Given the description of an element on the screen output the (x, y) to click on. 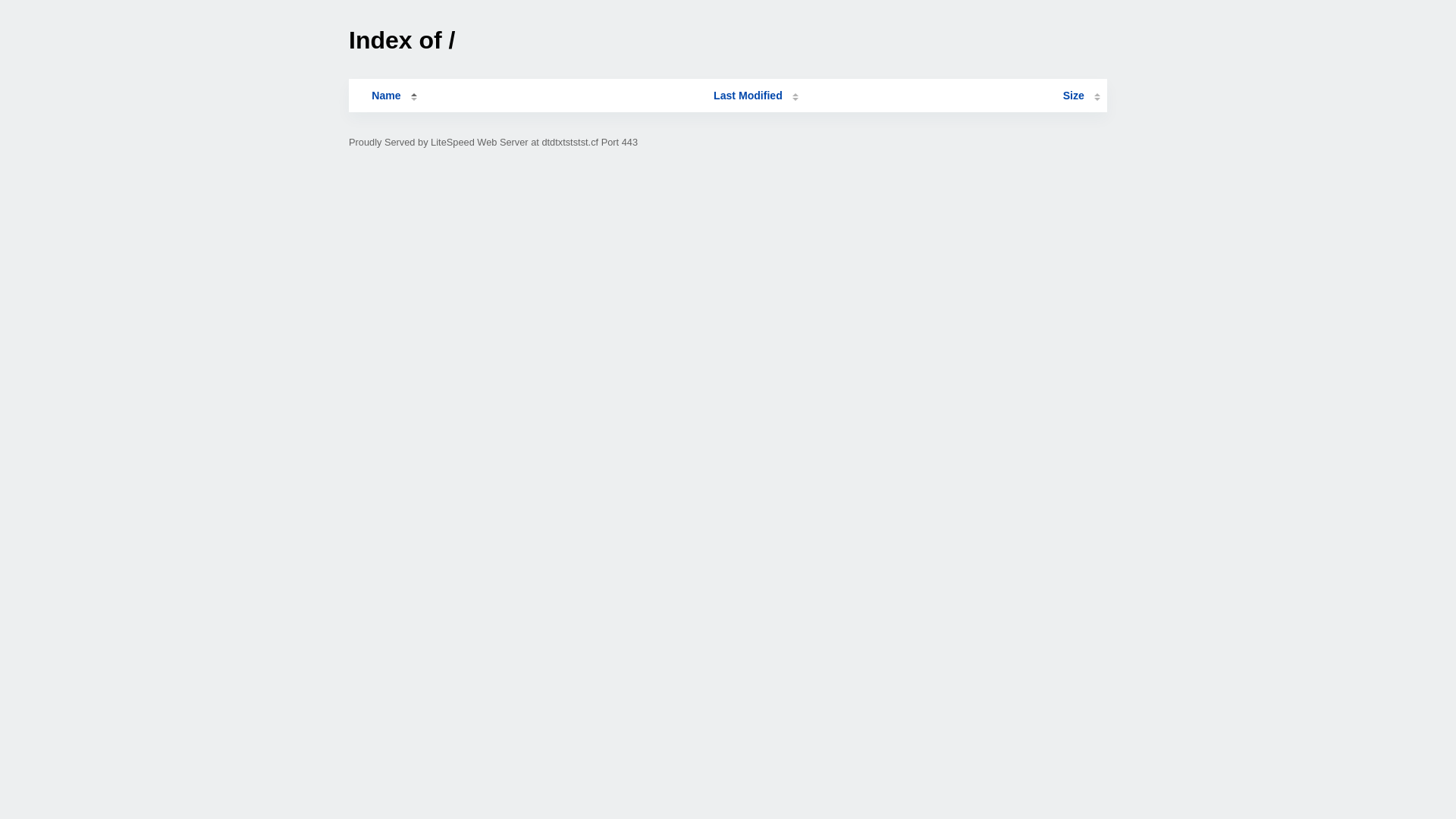
Last Modified Element type: text (755, 95)
Size Element type: text (1081, 95)
Name Element type: text (385, 95)
